Given the description of an element on the screen output the (x, y) to click on. 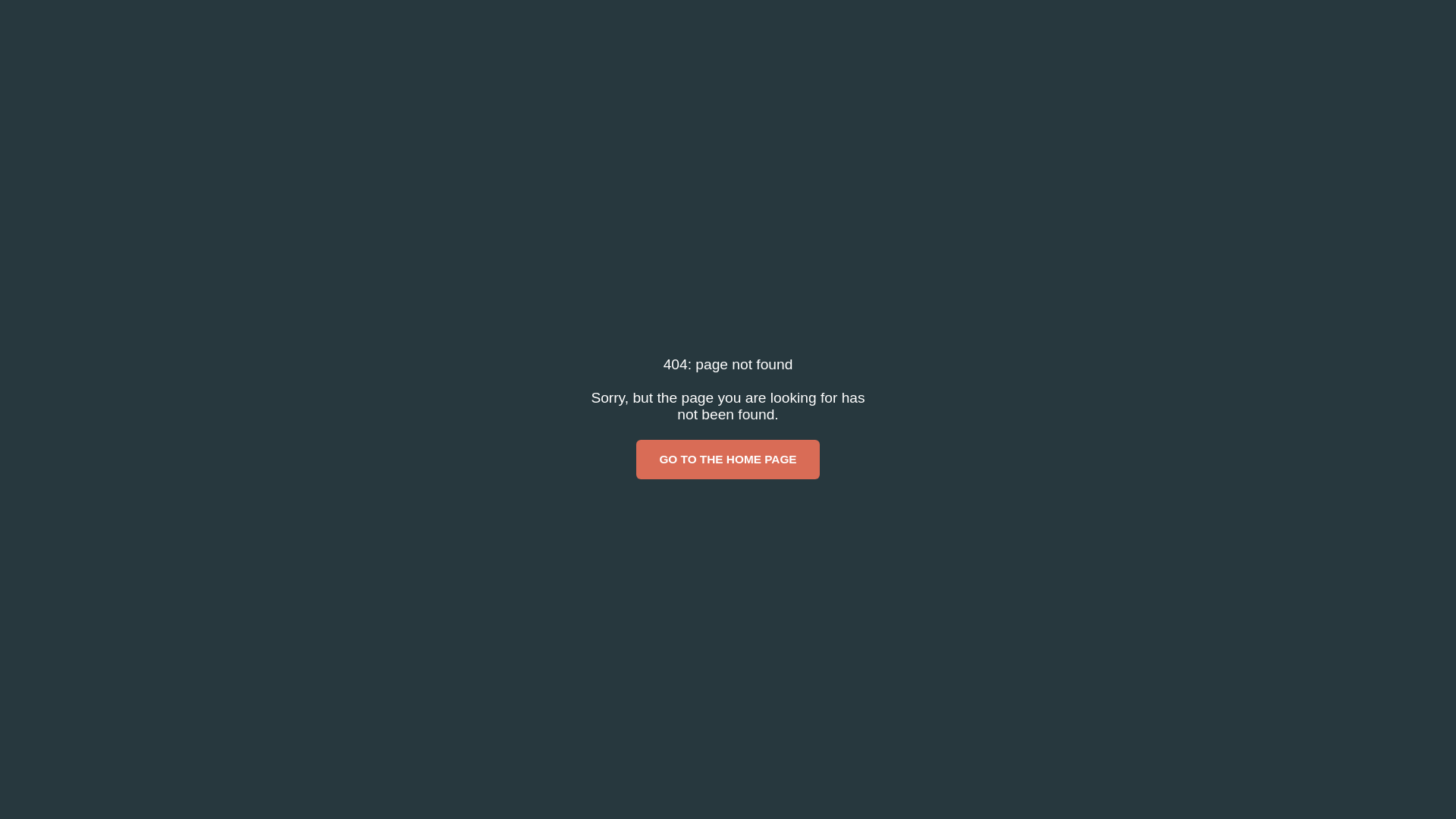
GO TO THE HOME PAGE Element type: text (728, 459)
